Given the description of an element on the screen output the (x, y) to click on. 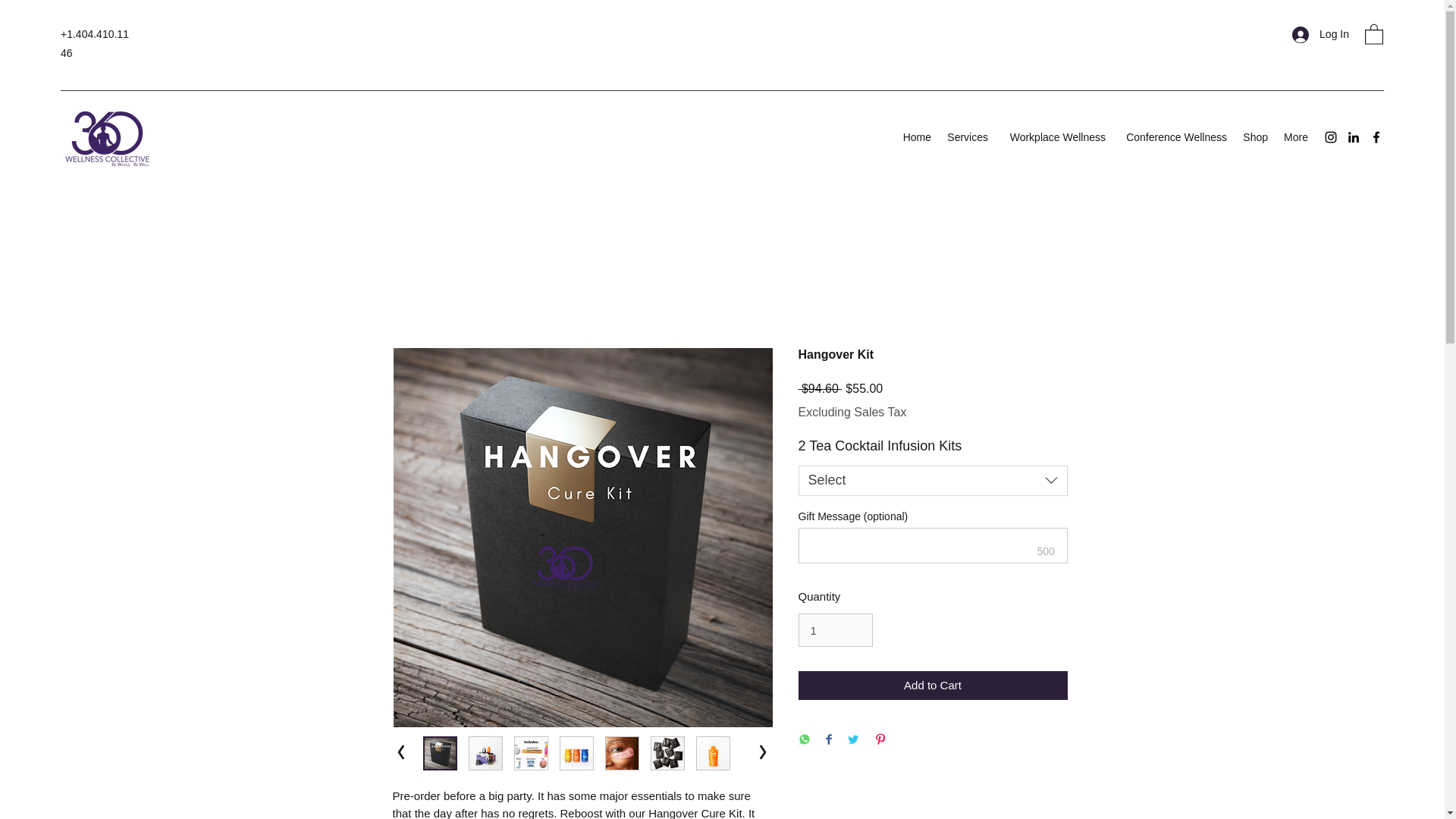
Home (916, 137)
1 (834, 630)
Workplace Wellness (1054, 137)
Services (967, 137)
Log In (1320, 34)
Add to Cart (932, 685)
Select (932, 481)
Shop (1254, 137)
Conference Wellness (1173, 137)
